Given the description of an element on the screen output the (x, y) to click on. 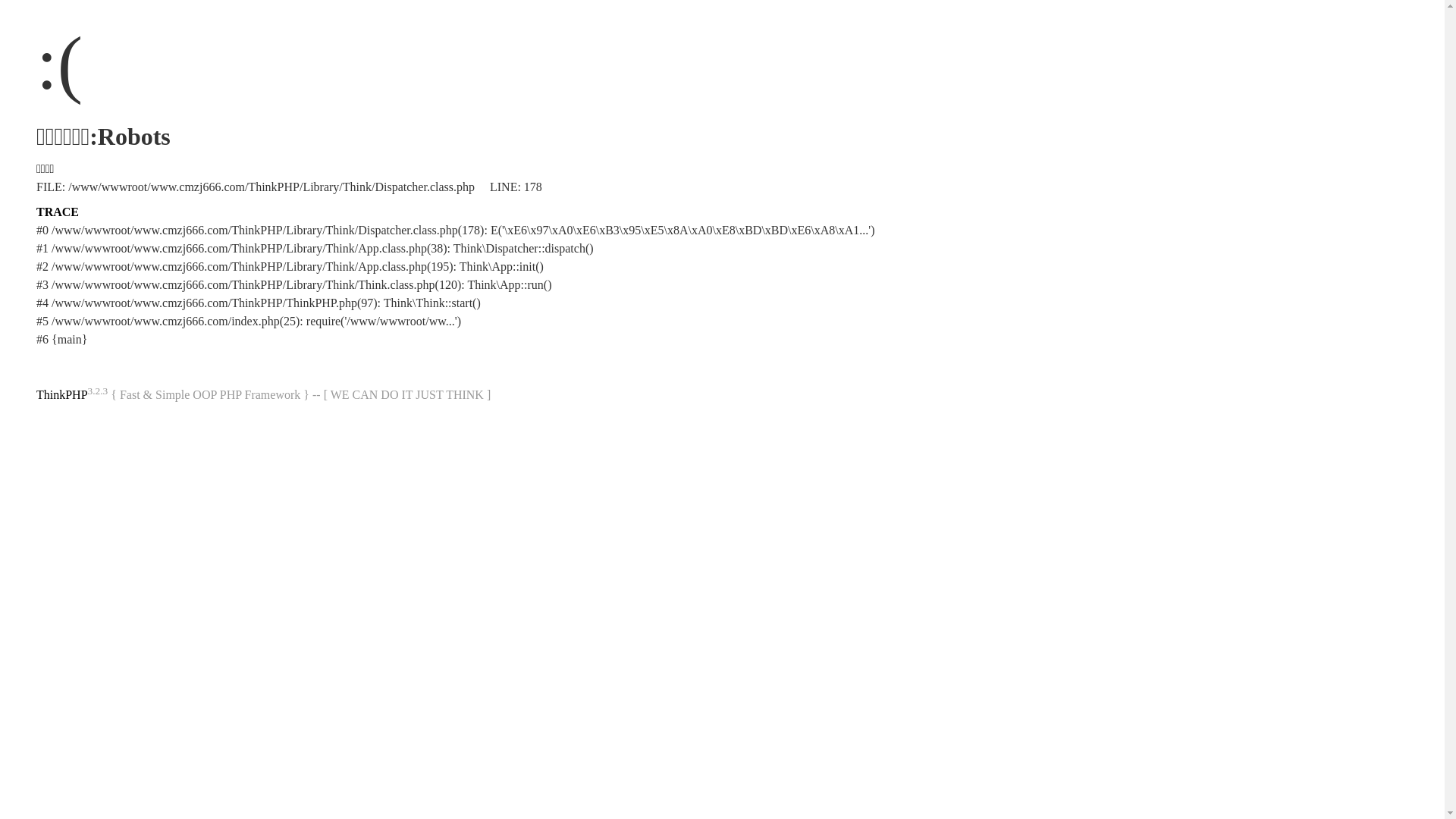
ThinkPHP Element type: text (61, 394)
